Given the description of an element on the screen output the (x, y) to click on. 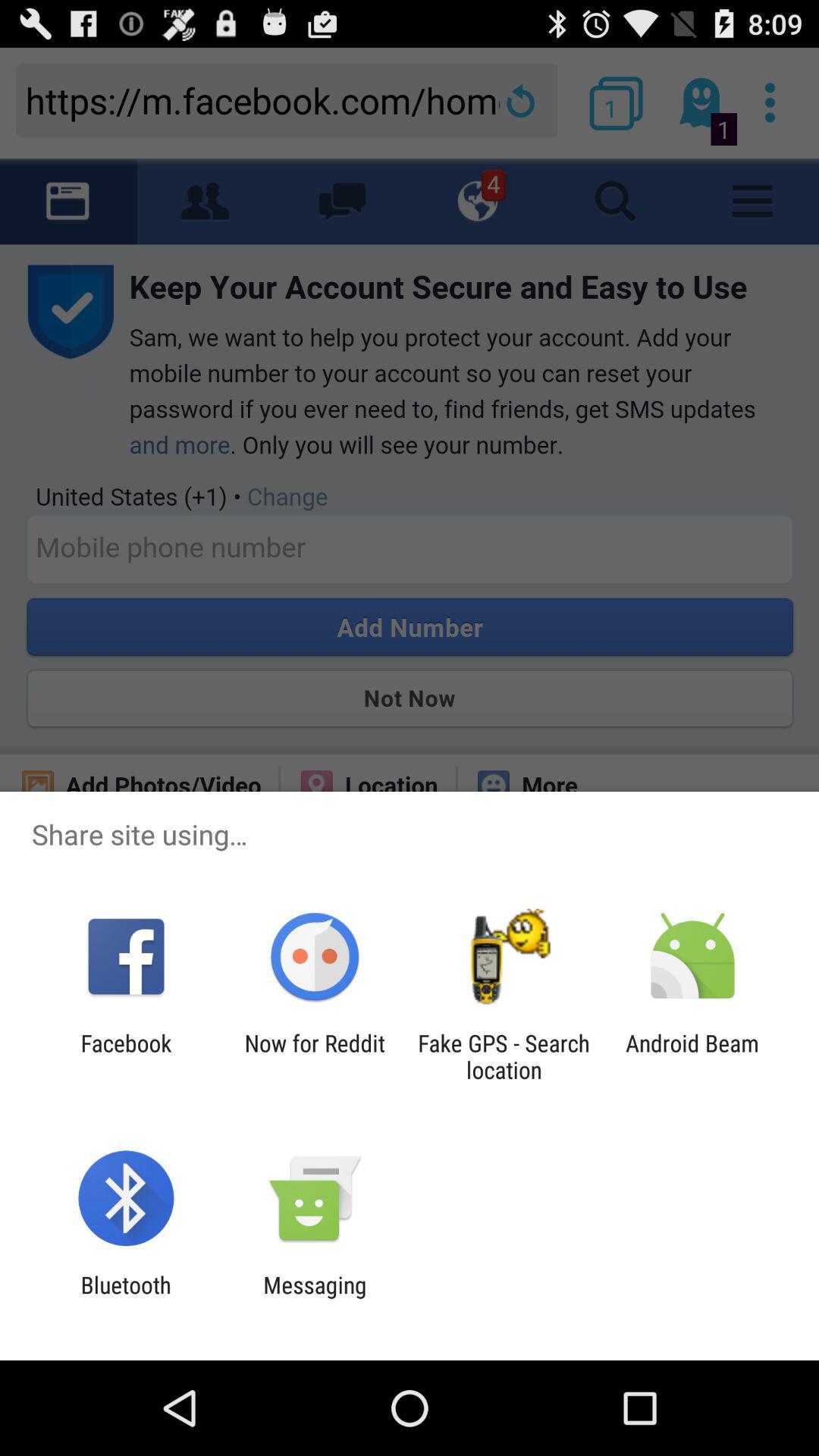
choose item next to the fake gps search icon (314, 1056)
